Given the description of an element on the screen output the (x, y) to click on. 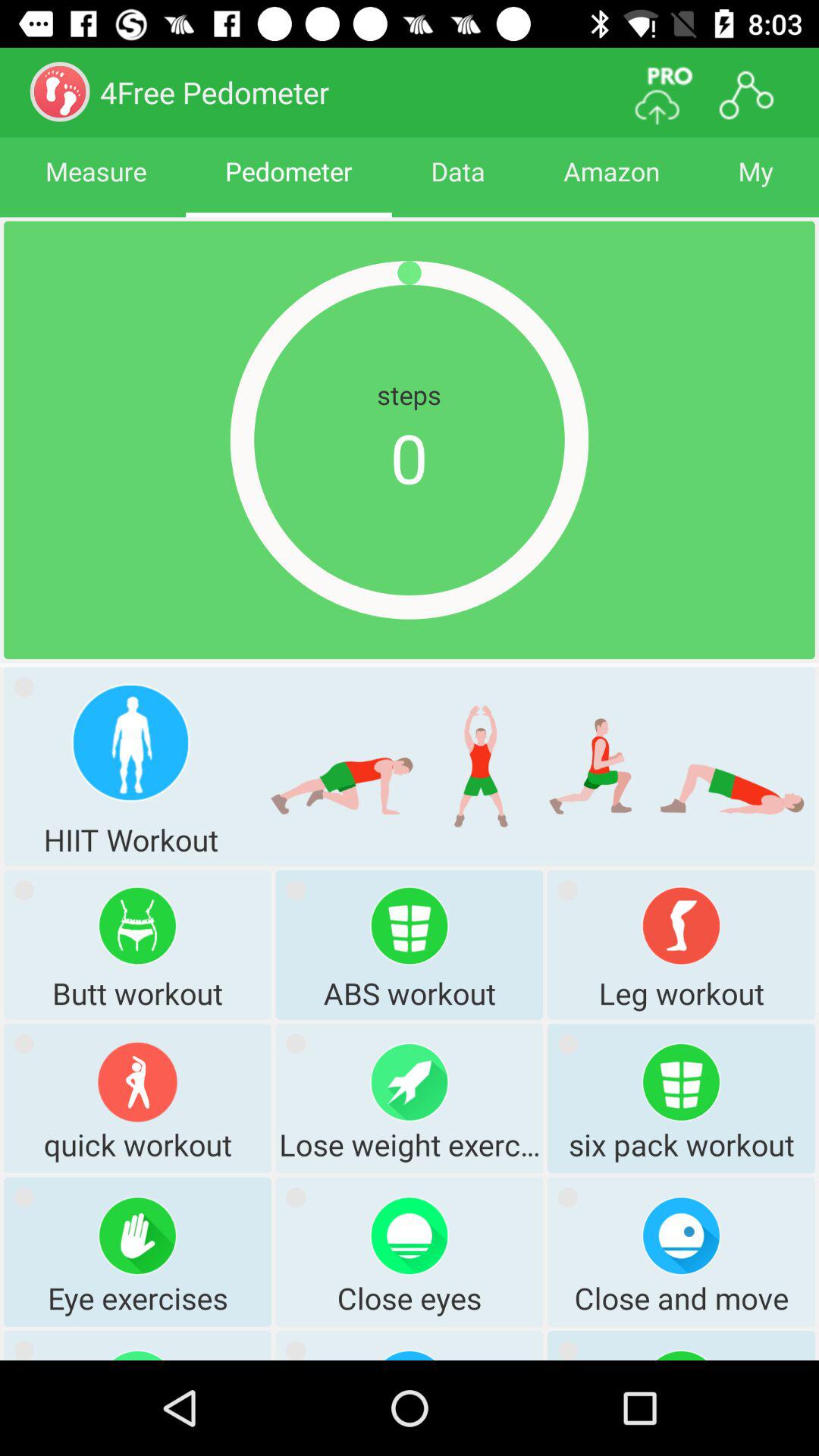
tap data icon (457, 185)
